Given the description of an element on the screen output the (x, y) to click on. 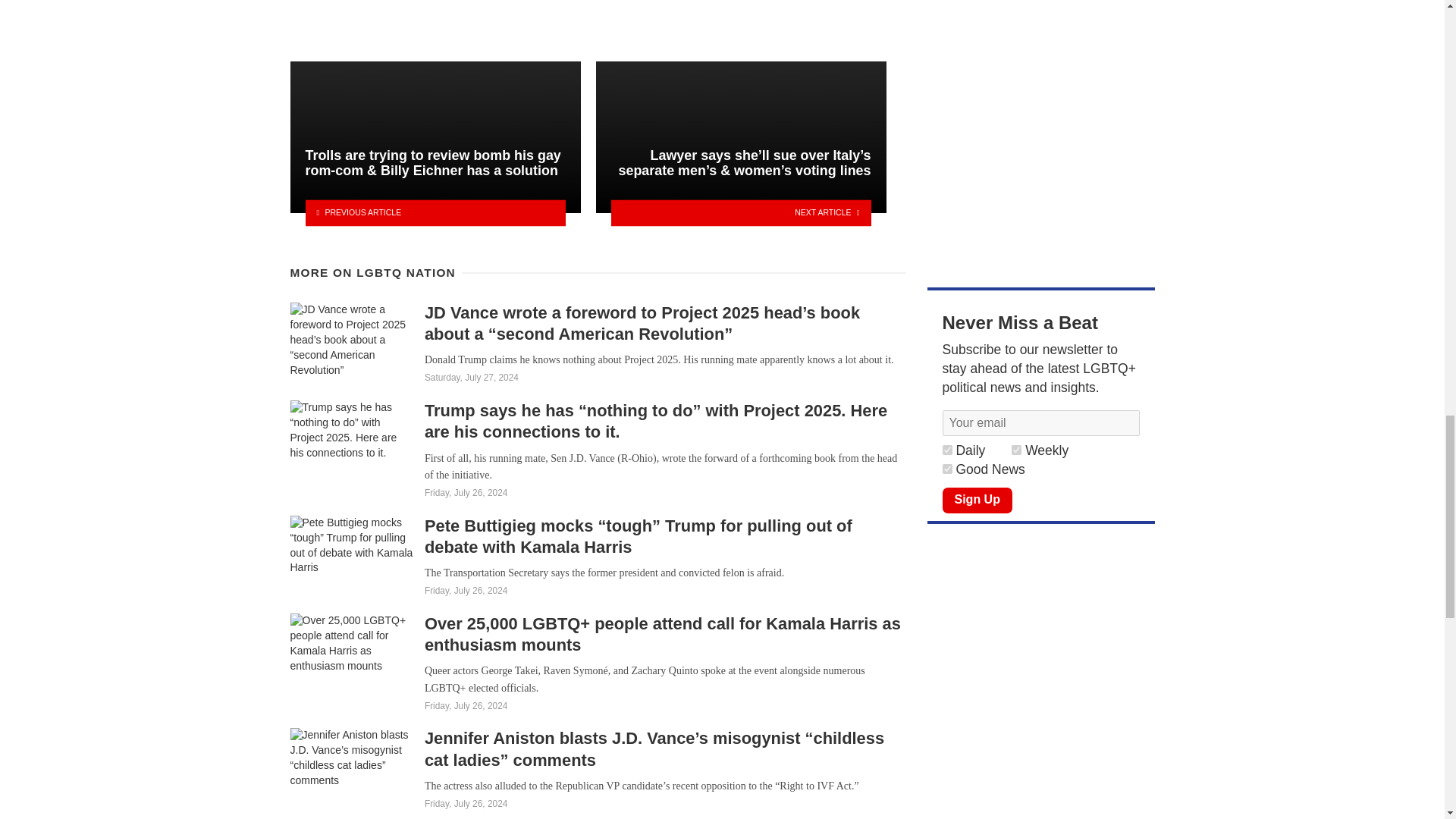
Sign Up (976, 500)
1920885 (947, 450)
1920884 (1016, 450)
1920883 (947, 469)
